Given the description of an element on the screen output the (x, y) to click on. 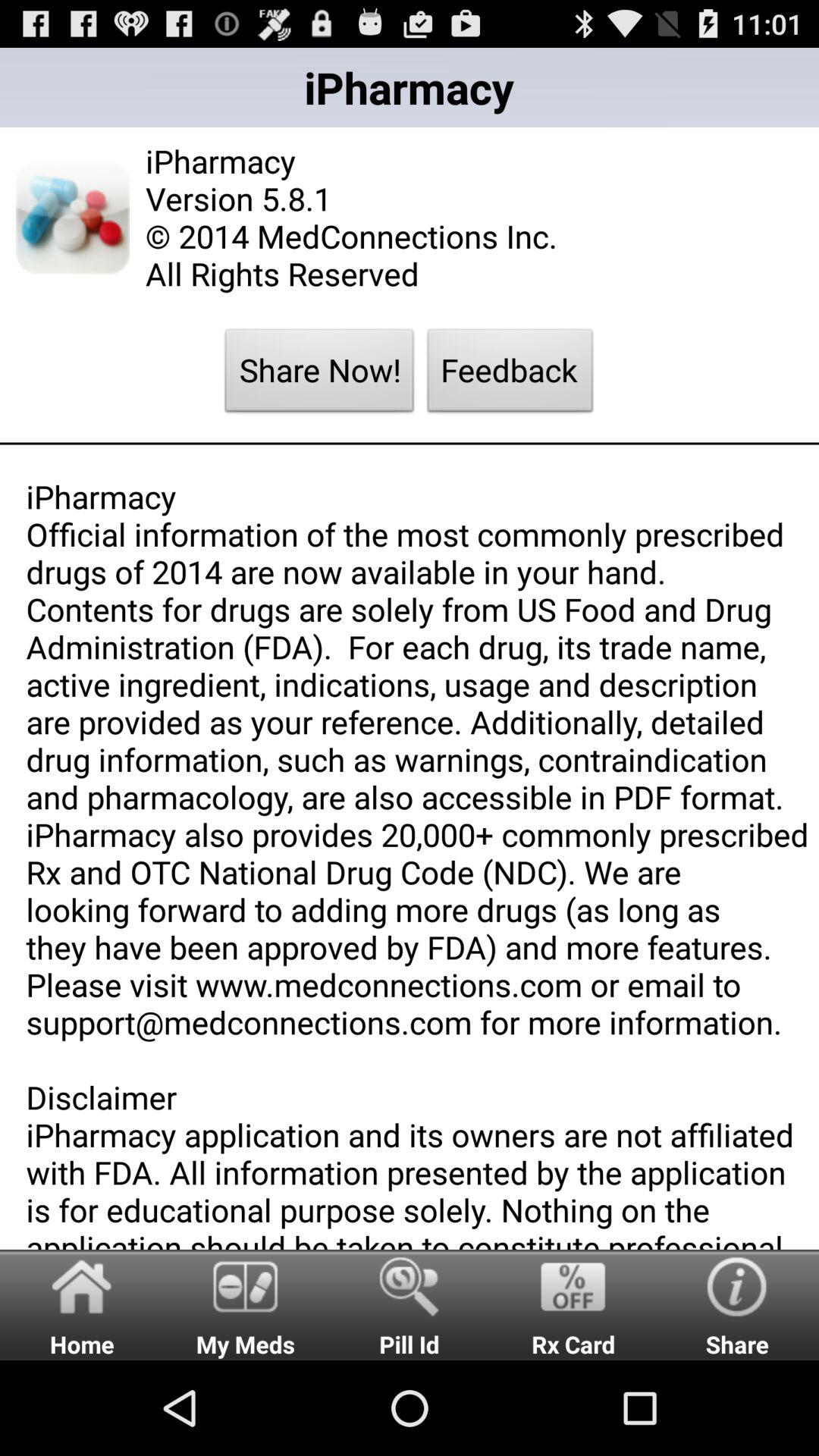
turn off radio button to the left of the my meds radio button (81, 1304)
